Given the description of an element on the screen output the (x, y) to click on. 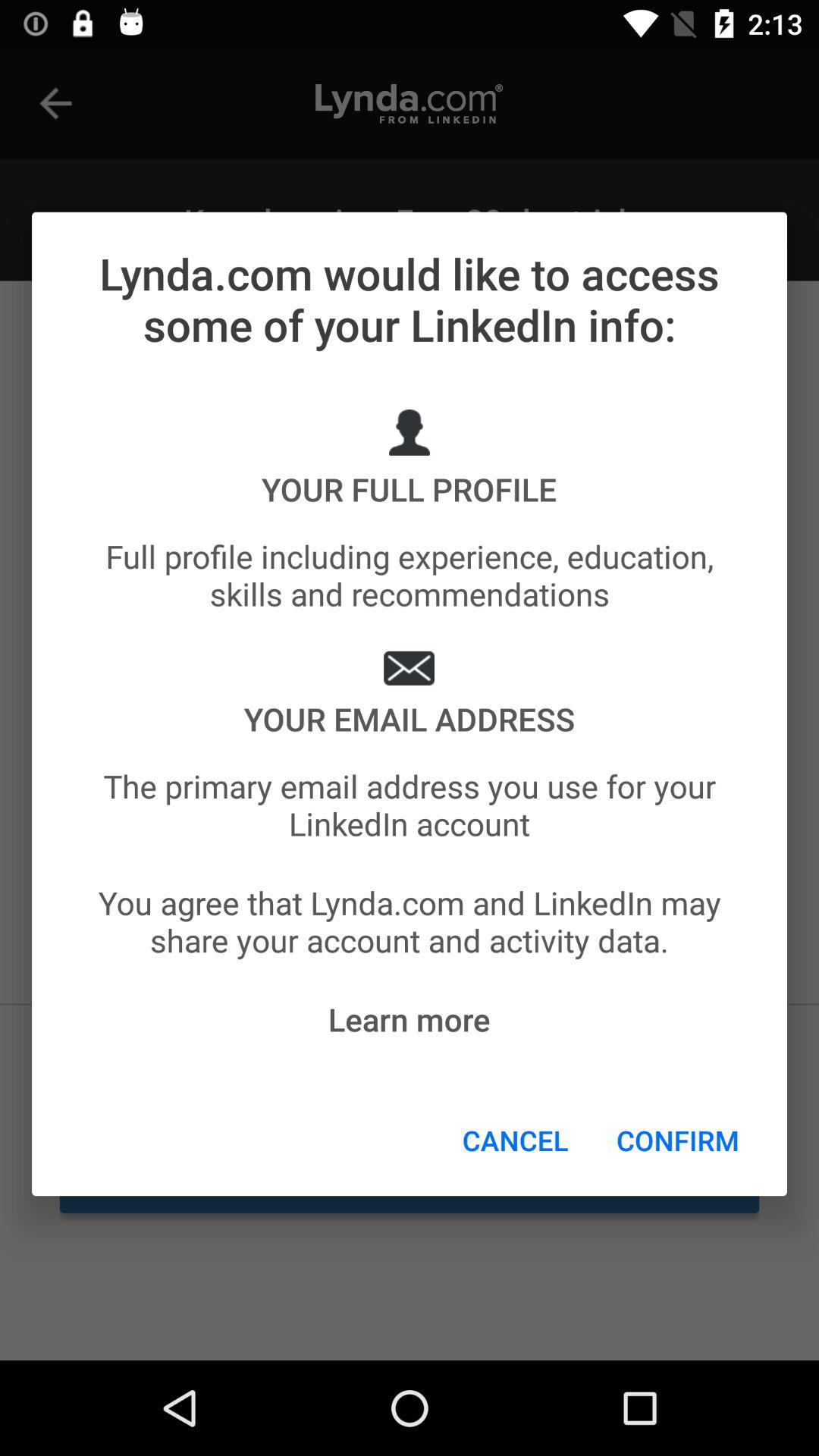
turn off the item below the learn more (515, 1140)
